Given the description of an element on the screen output the (x, y) to click on. 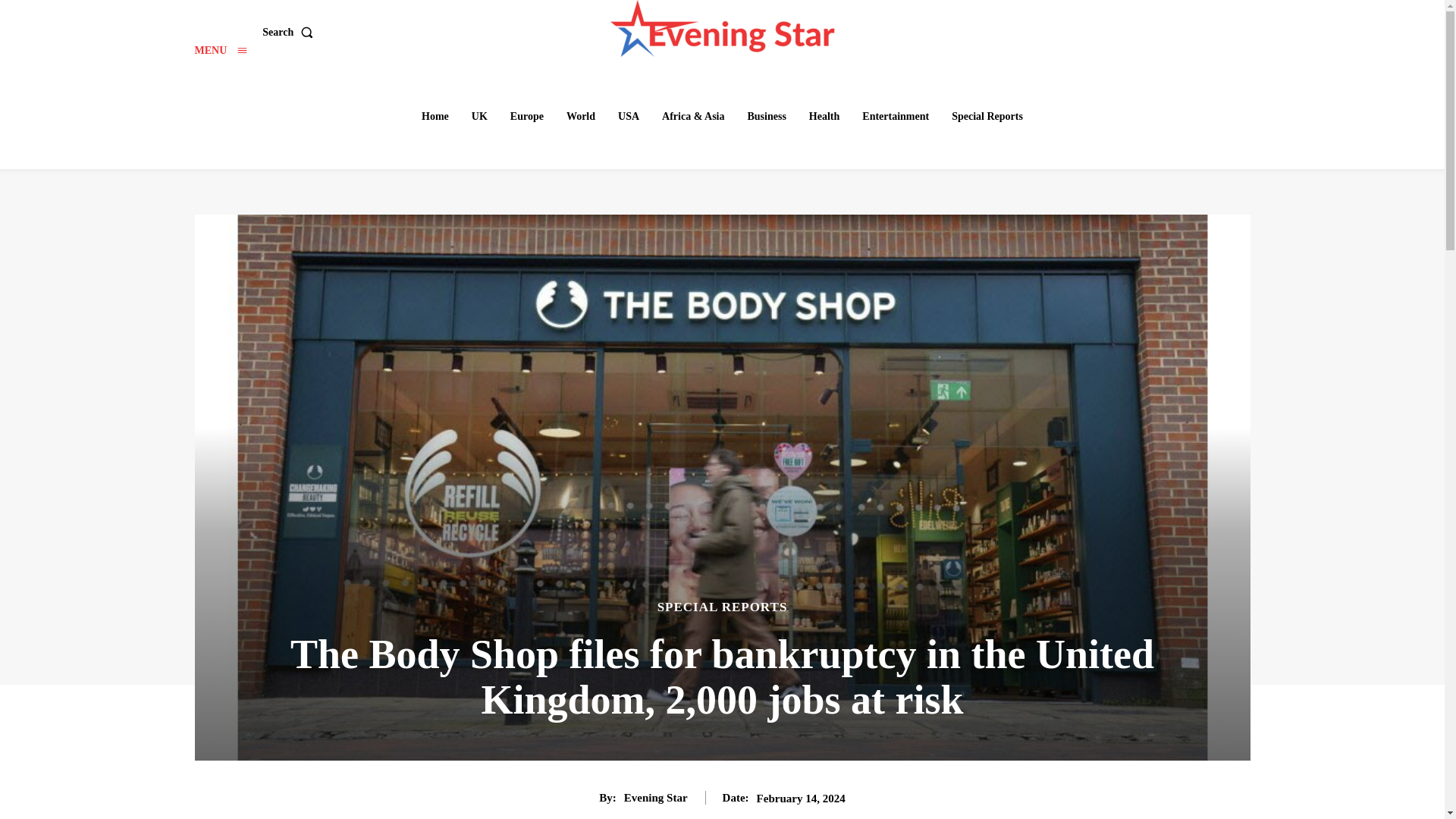
Home (435, 116)
UK (479, 116)
MENU (220, 50)
Business (766, 116)
World (580, 116)
Search (290, 32)
Health (824, 116)
Europe (526, 116)
USA (628, 116)
Menu (220, 50)
